Given the description of an element on the screen output the (x, y) to click on. 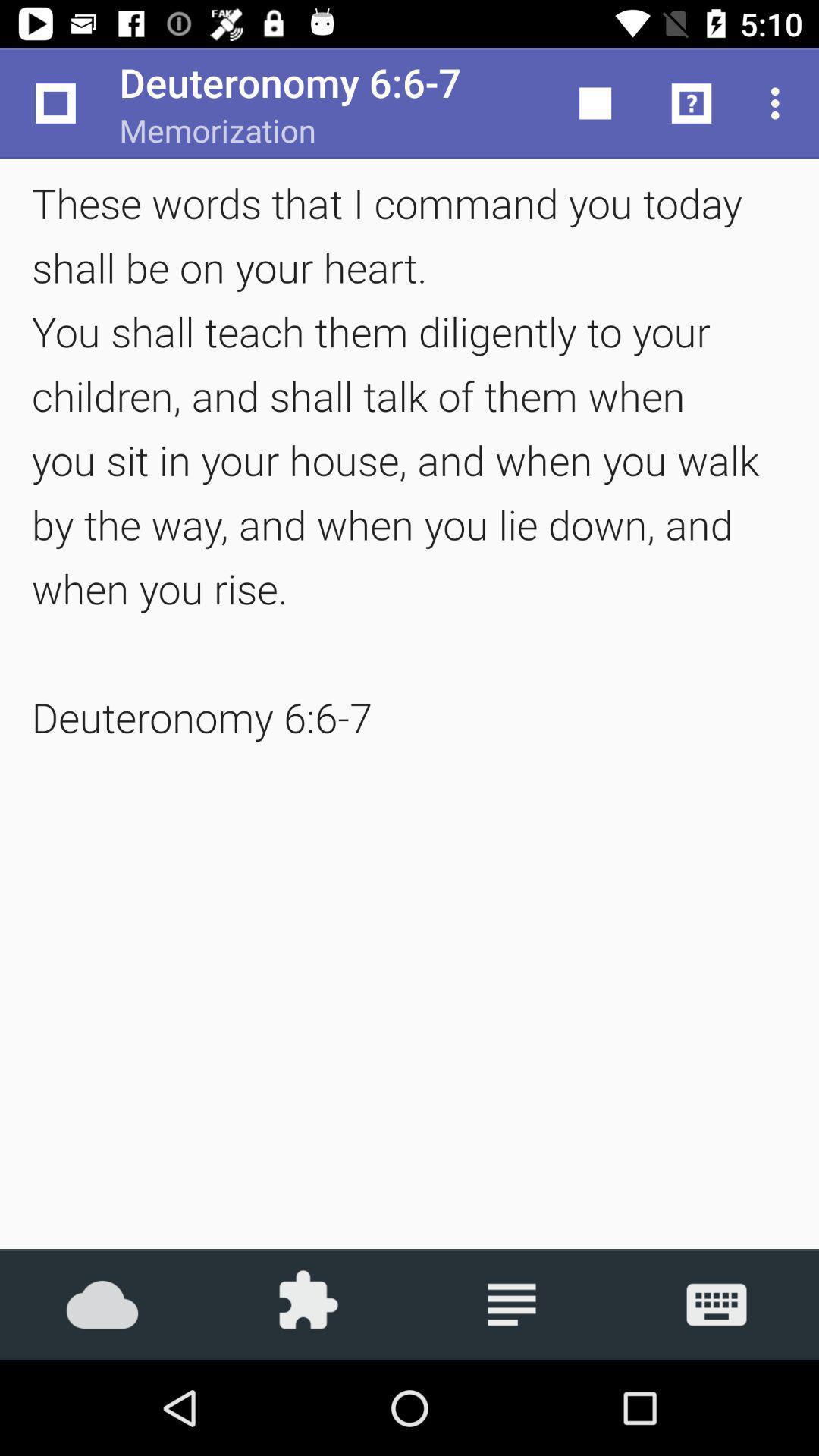
tap the item next to deuteronomy 6 6 (595, 103)
